Given the description of an element on the screen output the (x, y) to click on. 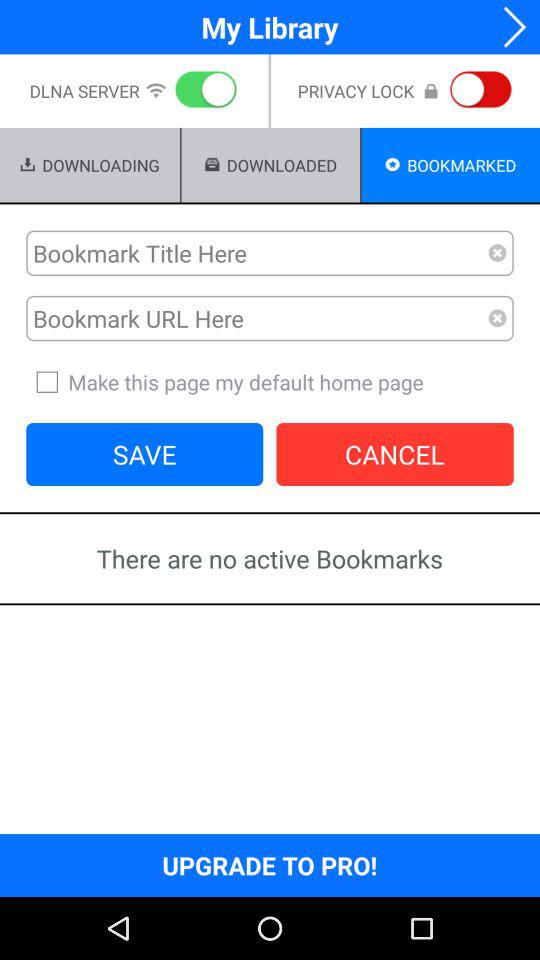
turn on item above the save button (269, 382)
